Given the description of an element on the screen output the (x, y) to click on. 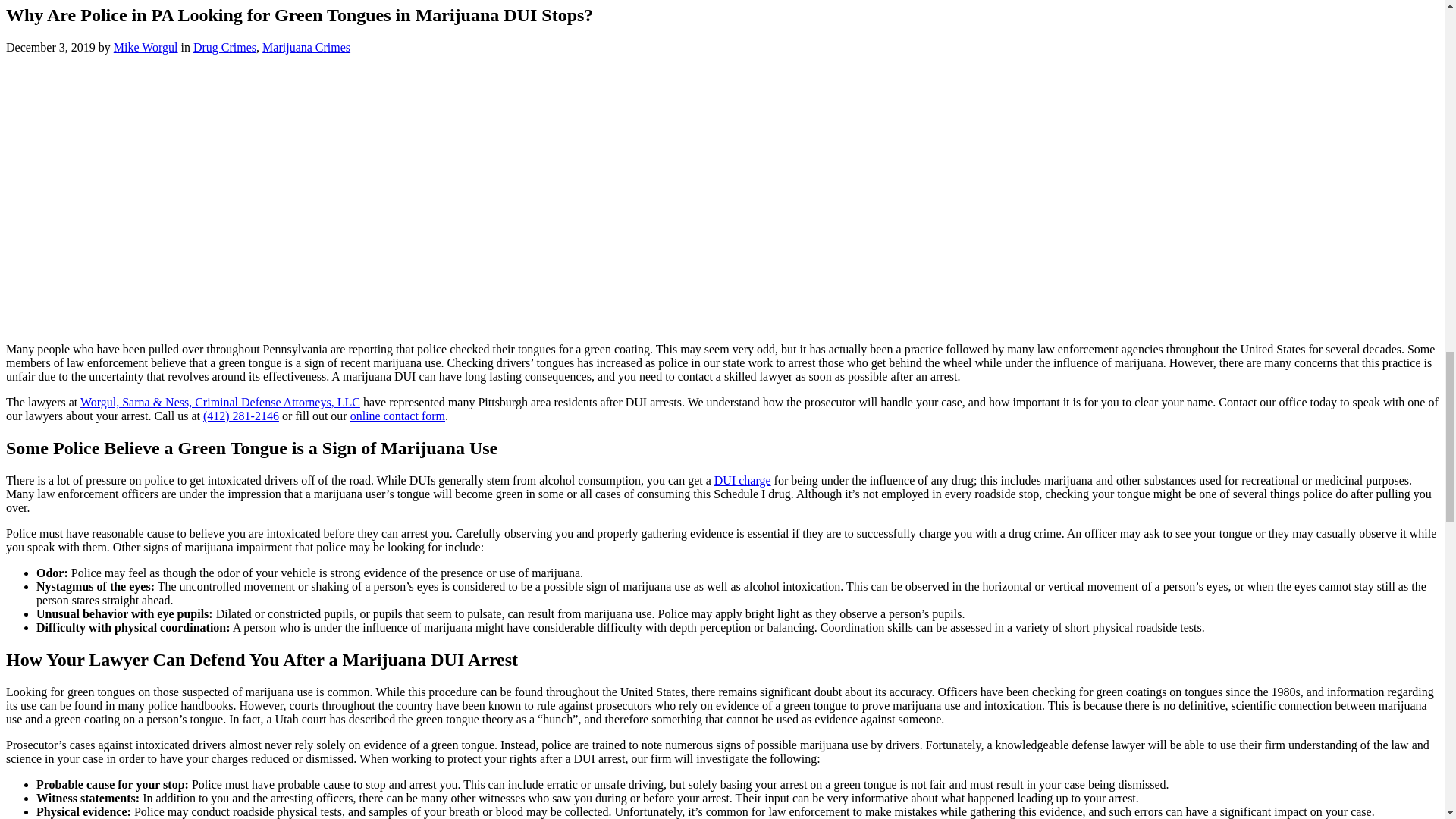
Pittsburgh DUI Lawyer (742, 480)
Attorney Mike Worgul (145, 47)
Contact Us (397, 415)
Meet Our Attorneys (219, 401)
